Given the description of an element on the screen output the (x, y) to click on. 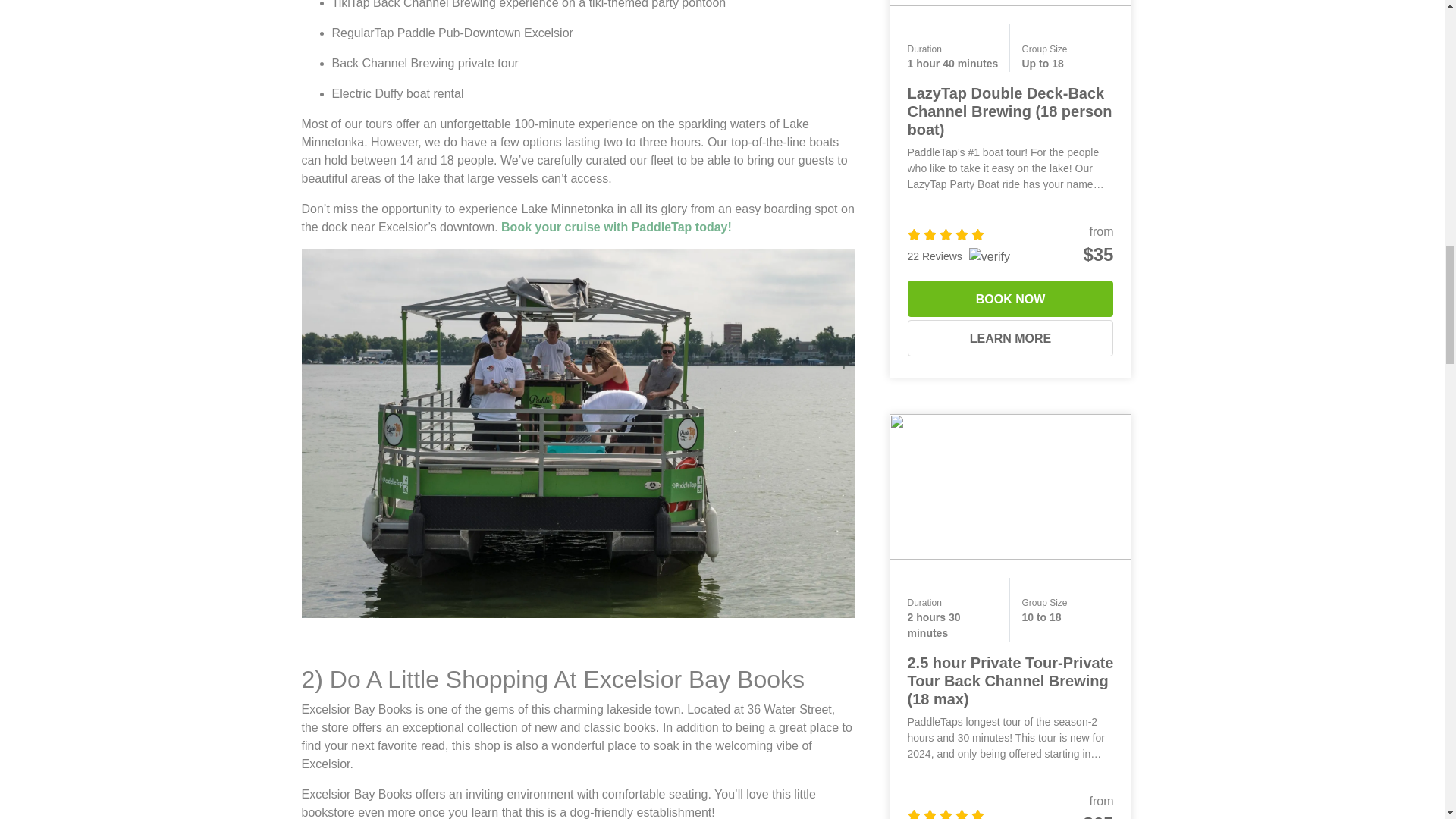
Book your cruise with PaddleTap today! (616, 226)
